Given the description of an element on the screen output the (x, y) to click on. 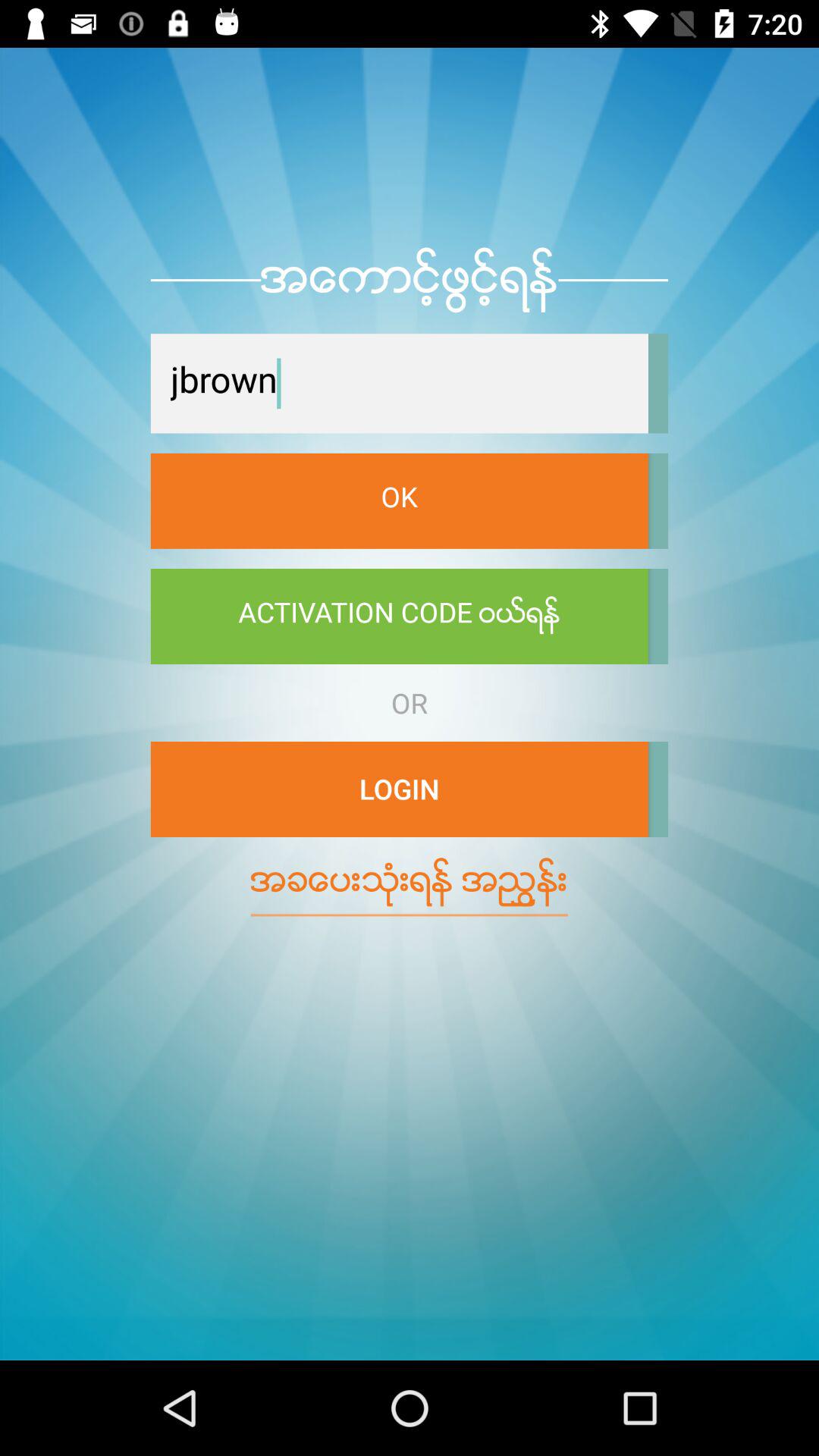
turn on the icon above the ok icon (399, 383)
